Given the description of an element on the screen output the (x, y) to click on. 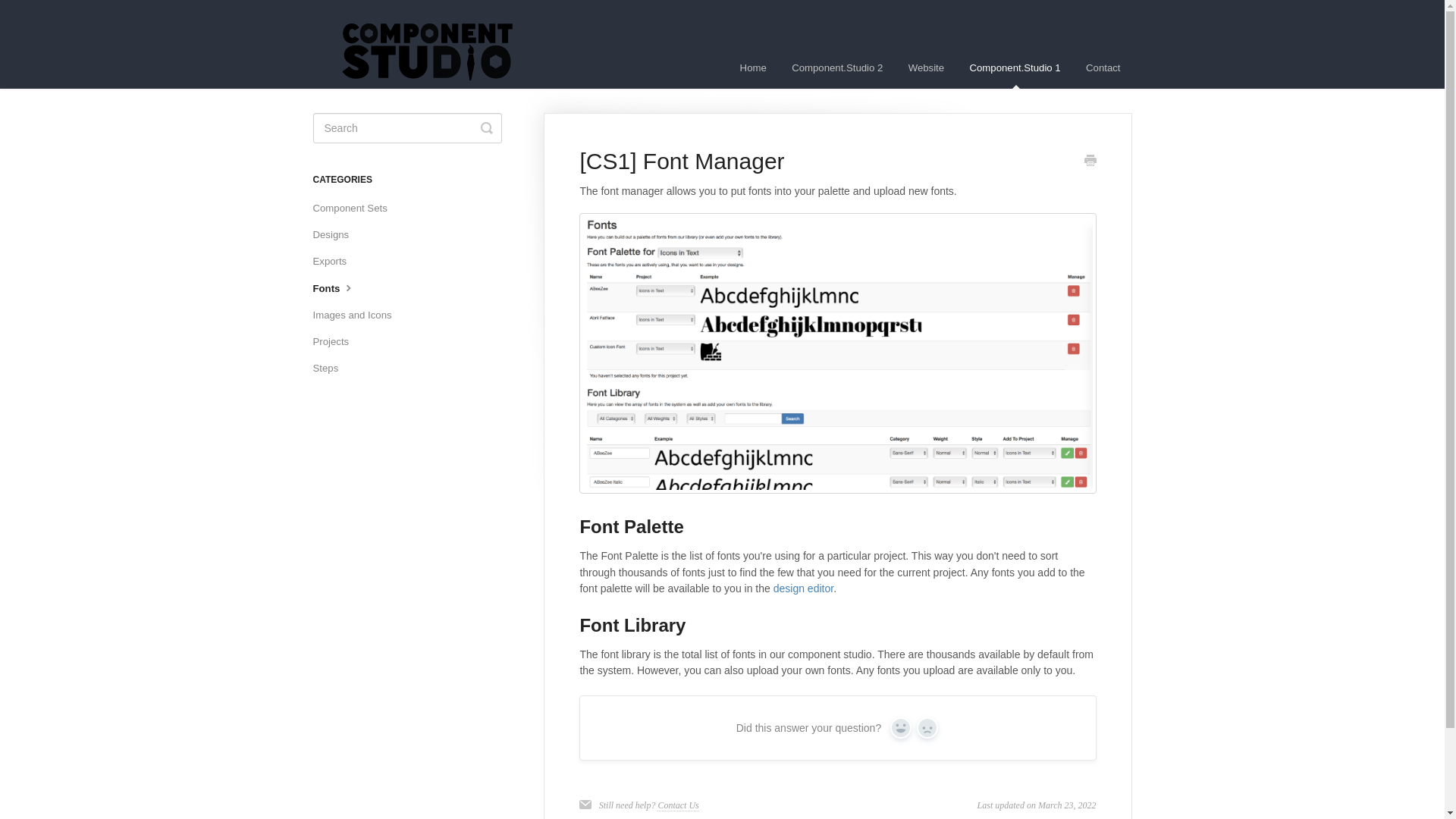
Component.Studio 1 (1014, 67)
Home (753, 67)
Projects (336, 341)
search-query (406, 128)
Steps (331, 368)
Contact (1102, 67)
Contact Us (678, 805)
Designs (336, 234)
Website (925, 67)
Component Sets (355, 208)
